Given the description of an element on the screen output the (x, y) to click on. 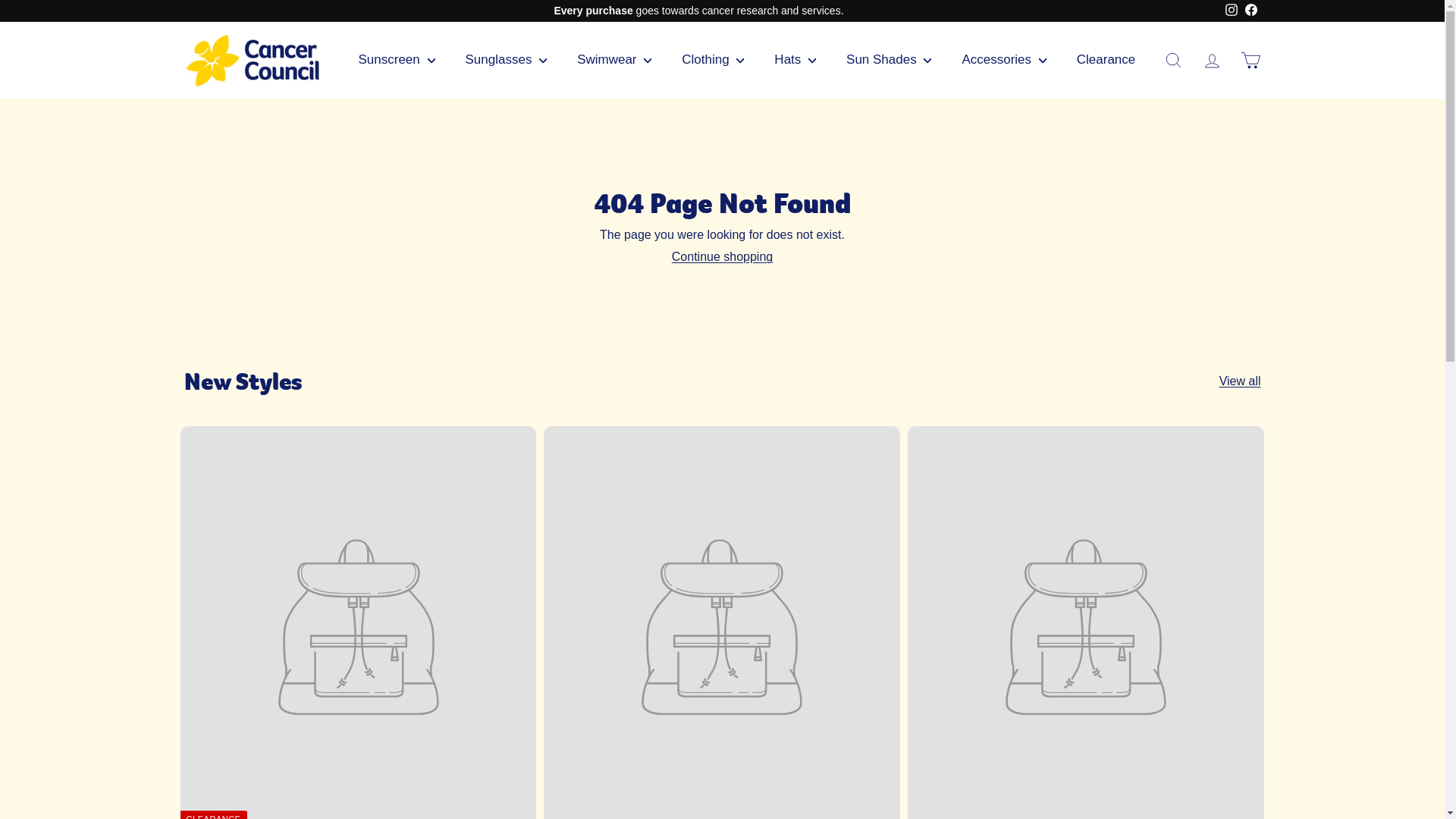
Account Element type: text (1211, 59)
Clearance Element type: text (1106, 59)
Facebook Element type: text (1250, 10)
instagram
Instagram Element type: text (1230, 10)
Cart Element type: text (1250, 59)
Continue shopping Element type: text (721, 256)
View all Element type: text (1240, 380)
Search Element type: text (1173, 59)
